Given the description of an element on the screen output the (x, y) to click on. 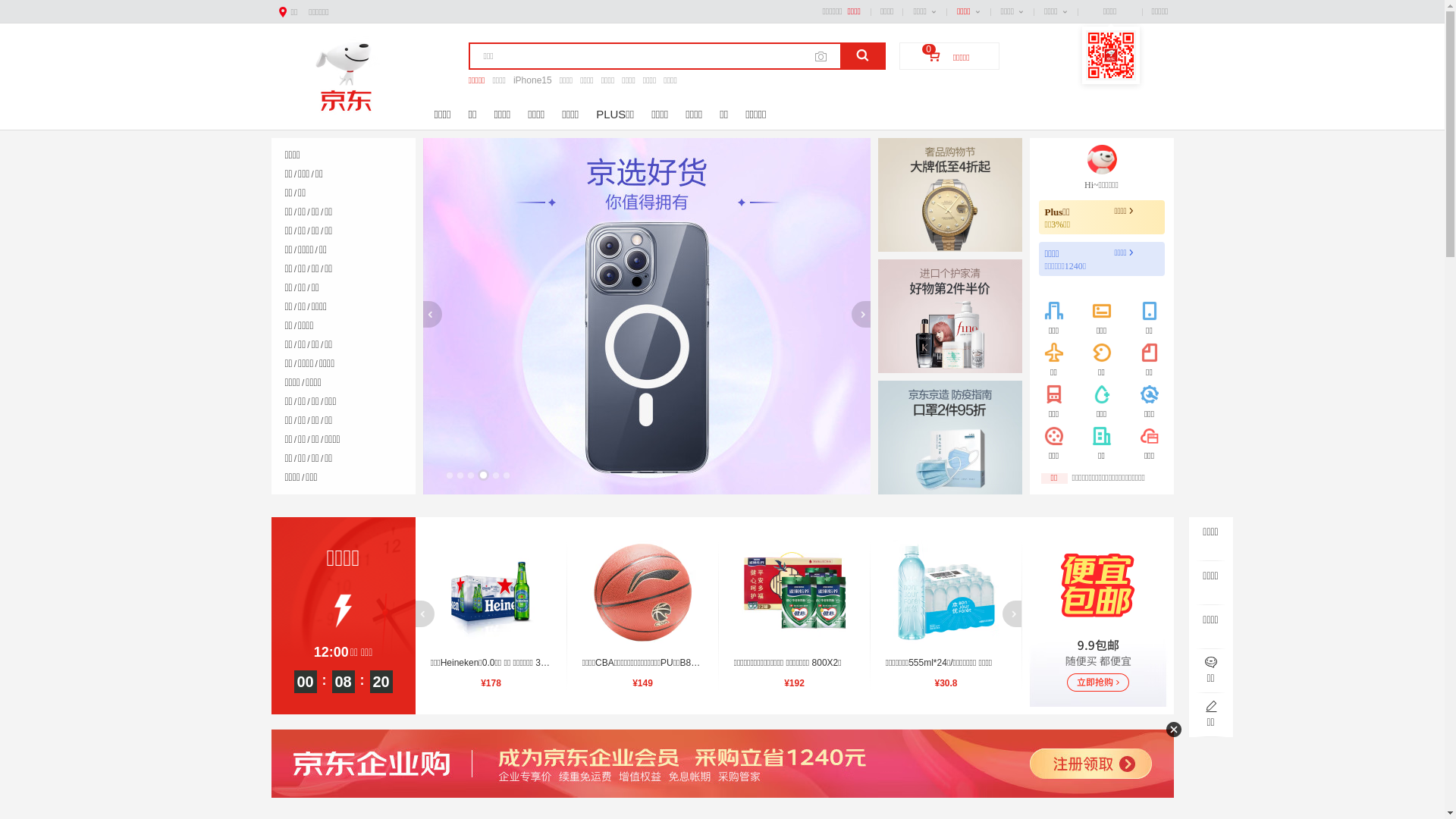
iPhone15 Element type: text (532, 79)
